Given the description of an element on the screen output the (x, y) to click on. 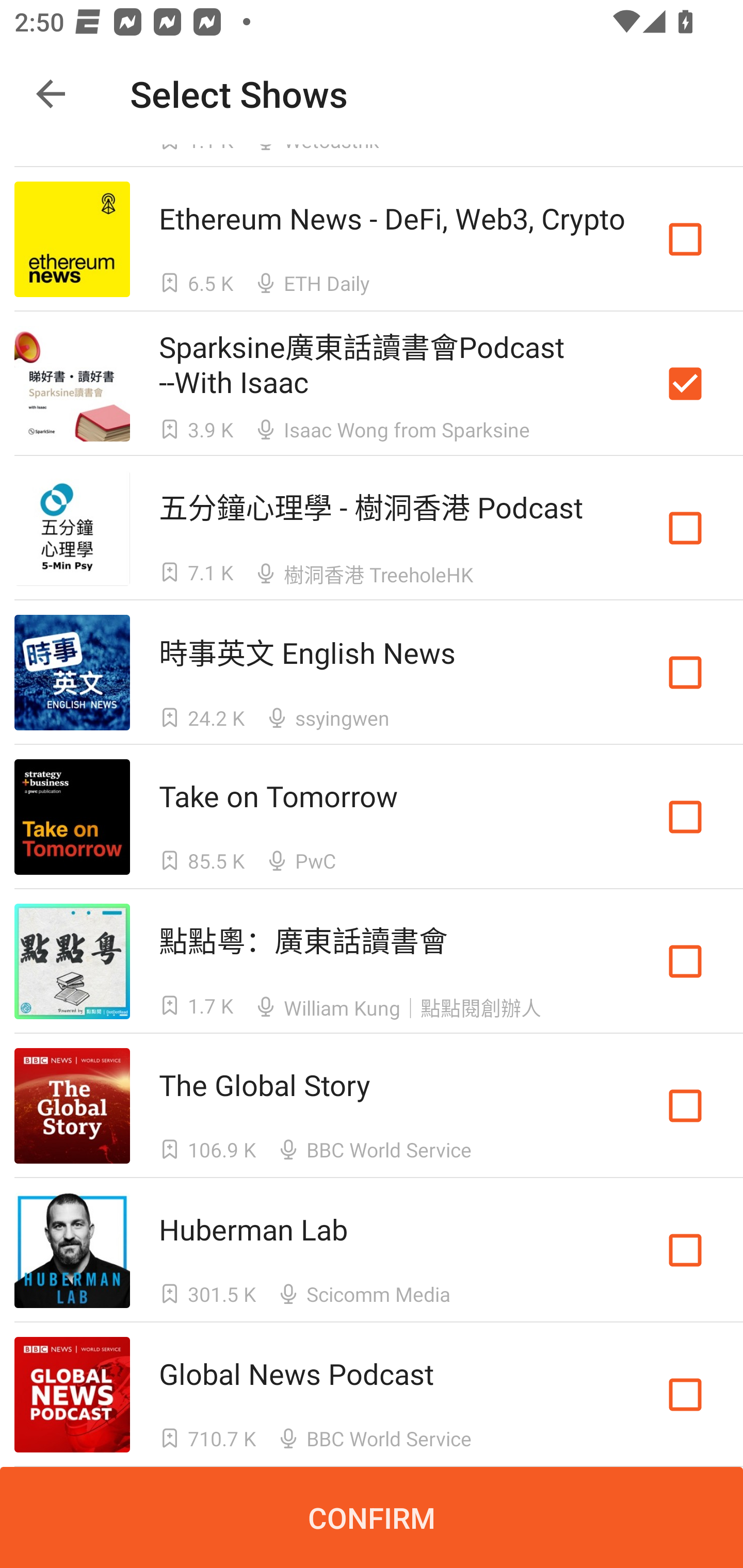
Navigate up (50, 93)
Take on Tomorrow Take on Tomorrow  85.5 K  PwC (371, 816)
CONFIRM (371, 1517)
